Given the description of an element on the screen output the (x, y) to click on. 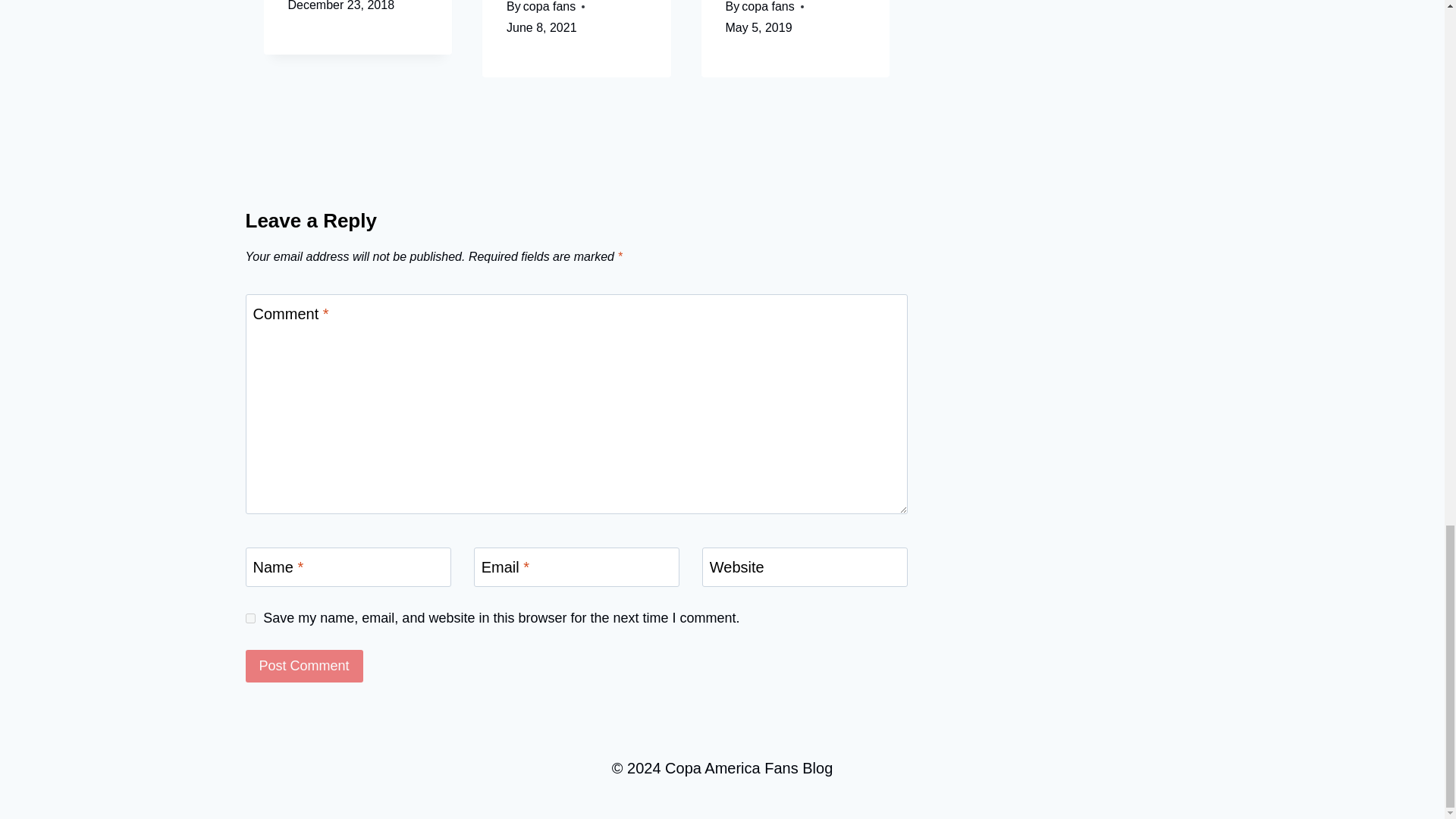
copa fans (767, 6)
copa fans (548, 6)
yes (251, 618)
Post Comment (304, 666)
